Given the description of an element on the screen output the (x, y) to click on. 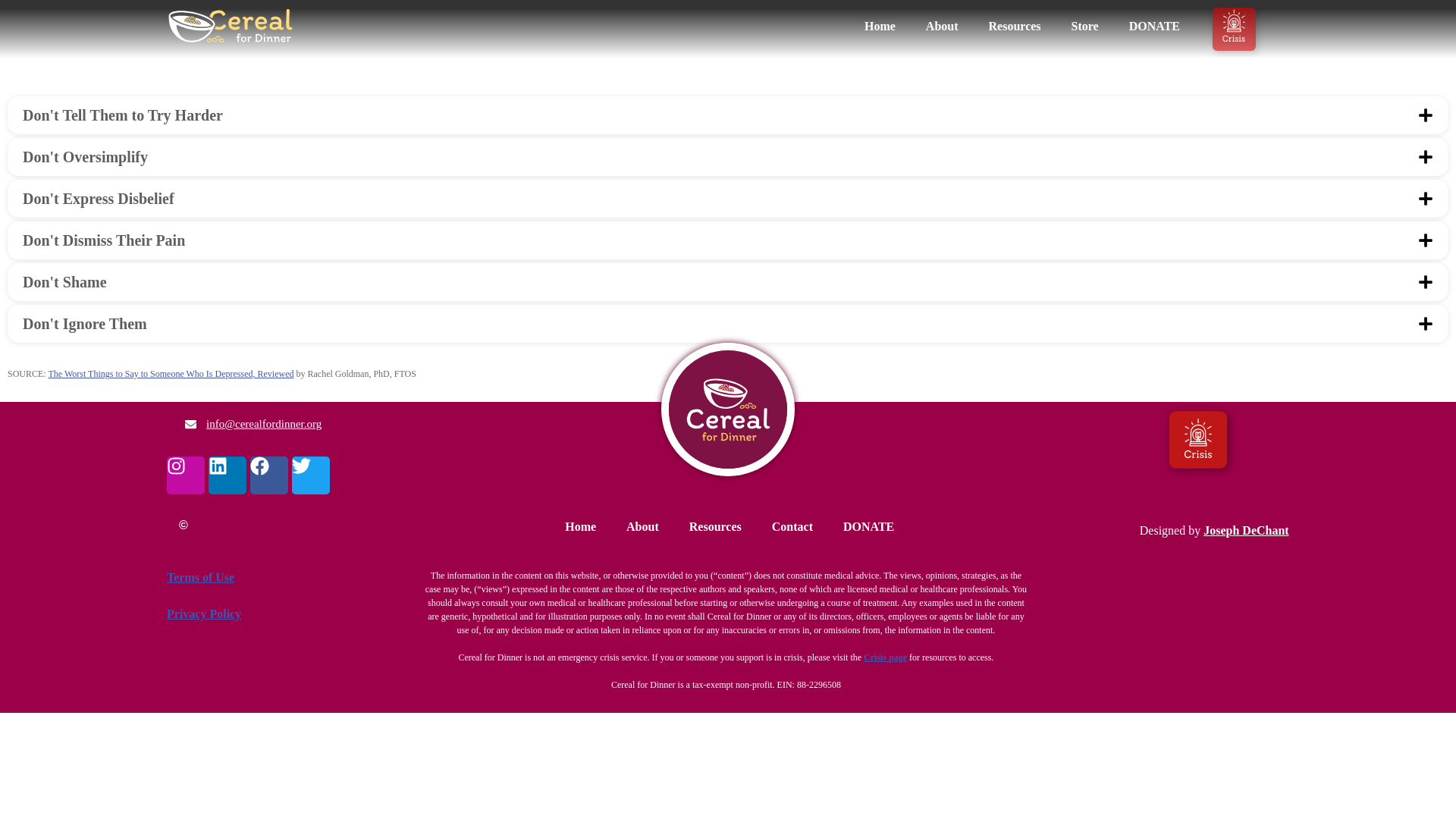
DONATE (1154, 26)
Store (1085, 26)
Resources (1015, 26)
Home (879, 26)
About (942, 26)
